Given the description of an element on the screen output the (x, y) to click on. 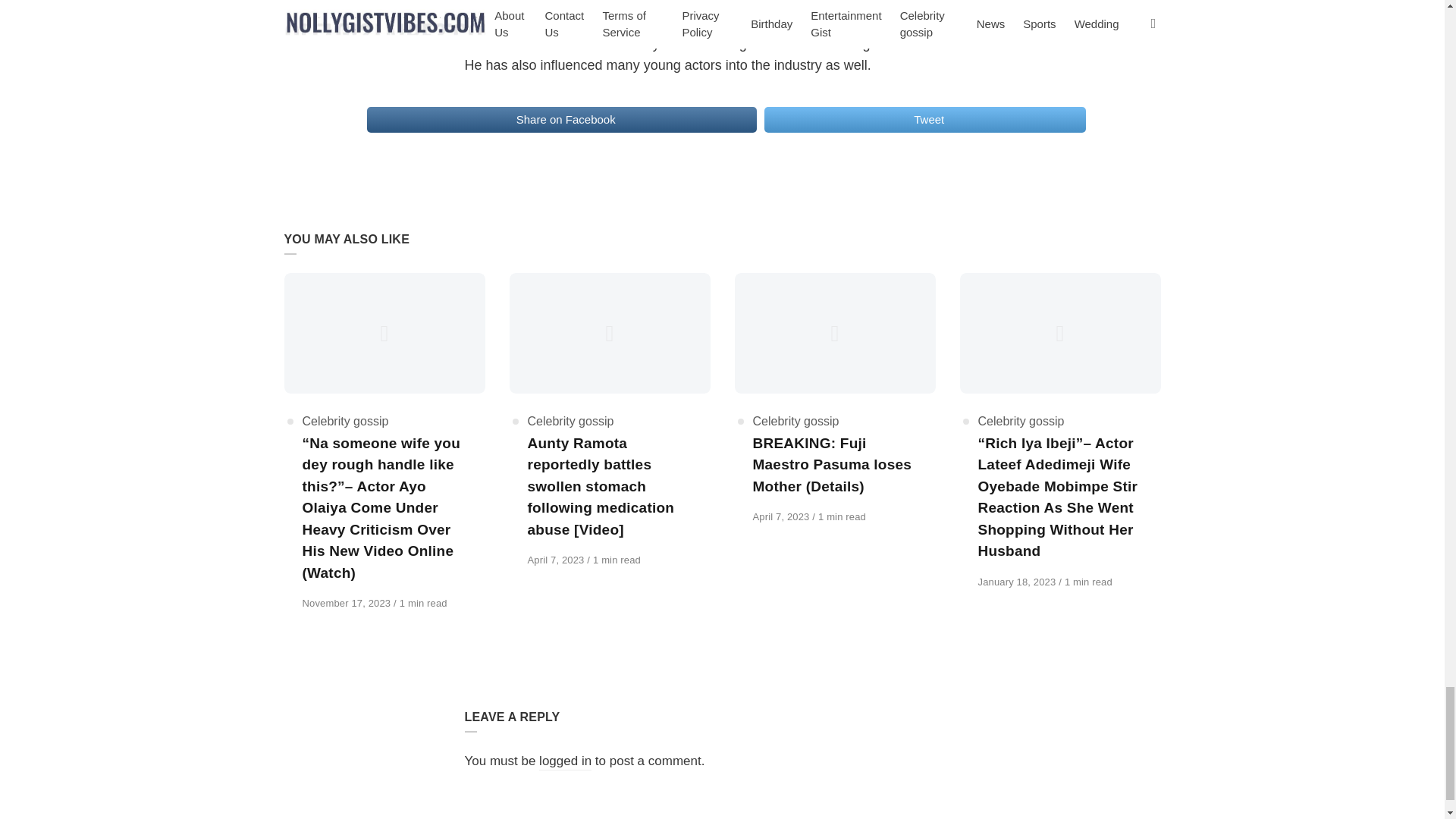
April 7, 2023 (782, 516)
Share on Facebook (561, 119)
November 17, 2023 (347, 603)
April 7, 2023 (782, 516)
April 7, 2023 (557, 559)
Celebrity gossip (1021, 420)
Tweet (925, 119)
logged in (564, 761)
April 7, 2023 (557, 559)
Celebrity gossip (570, 420)
January 18, 2023 (1018, 582)
Celebrity gossip (795, 420)
November 17, 2023 (347, 603)
January 18, 2023 (1018, 582)
Celebrity gossip (344, 420)
